Given the description of an element on the screen output the (x, y) to click on. 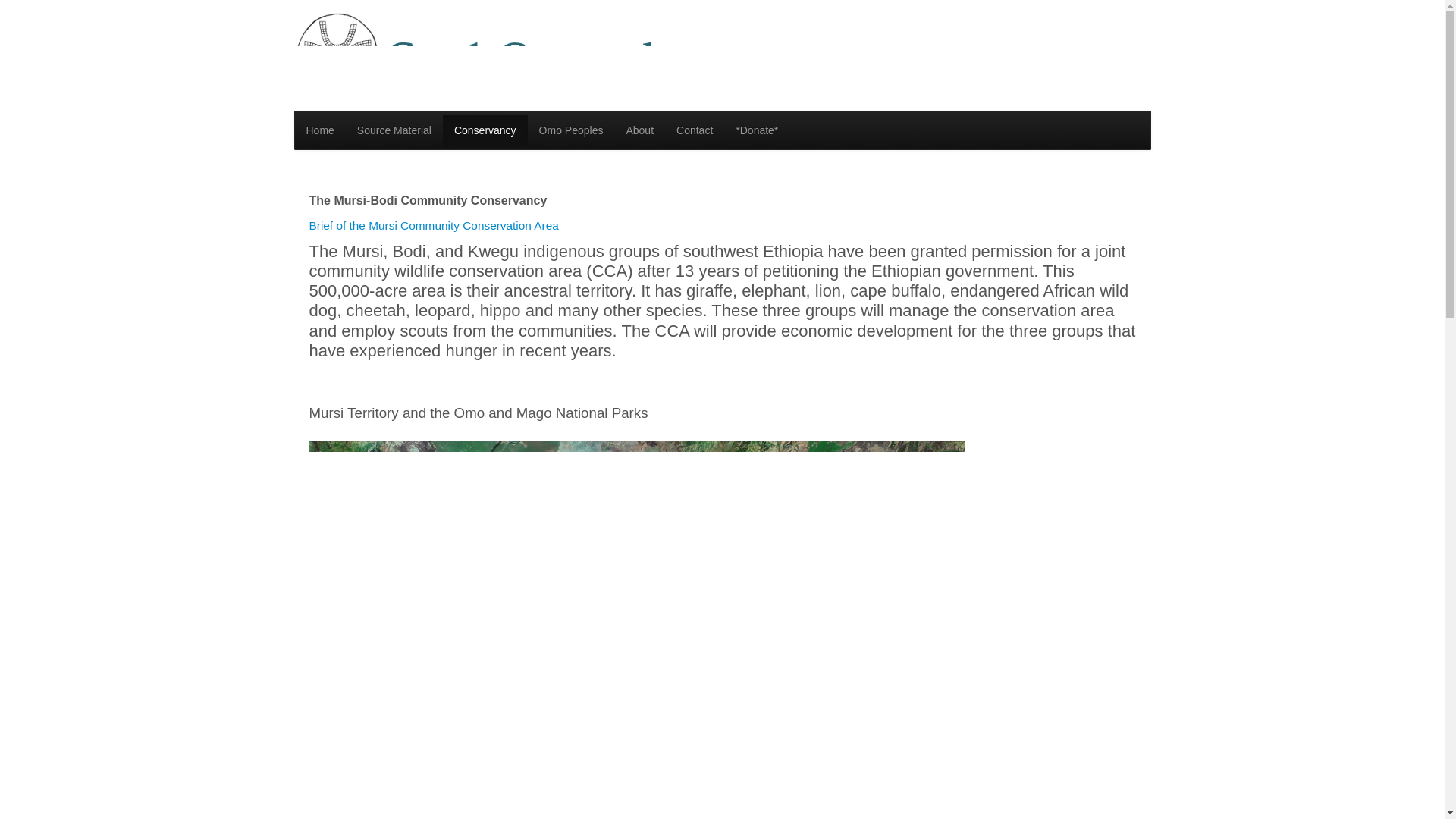
Omo Peoples (570, 130)
About (639, 130)
Brief of the Mursi Community Conservation Area (433, 225)
Home (319, 130)
Contact (694, 130)
Source Material (394, 130)
Cool Ground (476, 54)
Conservancy (484, 130)
